Given the description of an element on the screen output the (x, y) to click on. 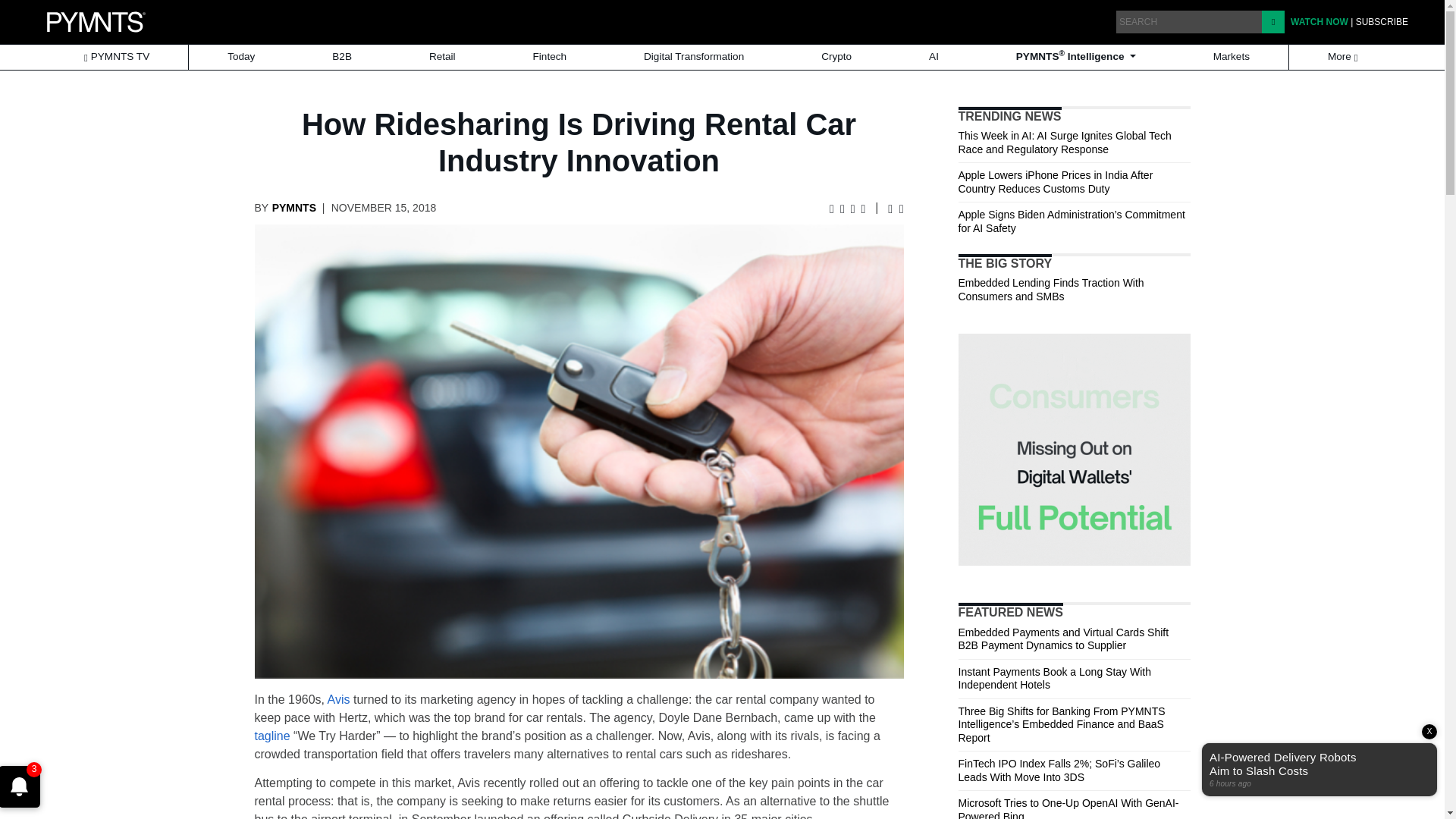
SUBSCRIBE (1381, 21)
 PYMNTS TV (116, 57)
Fintech (550, 57)
Posts by PYMNTS (293, 207)
Digital Transformation (694, 57)
Today (241, 57)
WATCH NOW (1319, 21)
Retail (442, 57)
Crypto (836, 57)
More  (1343, 57)
AI (932, 57)
Markets (1231, 57)
B2B (342, 57)
